Given the description of an element on the screen output the (x, y) to click on. 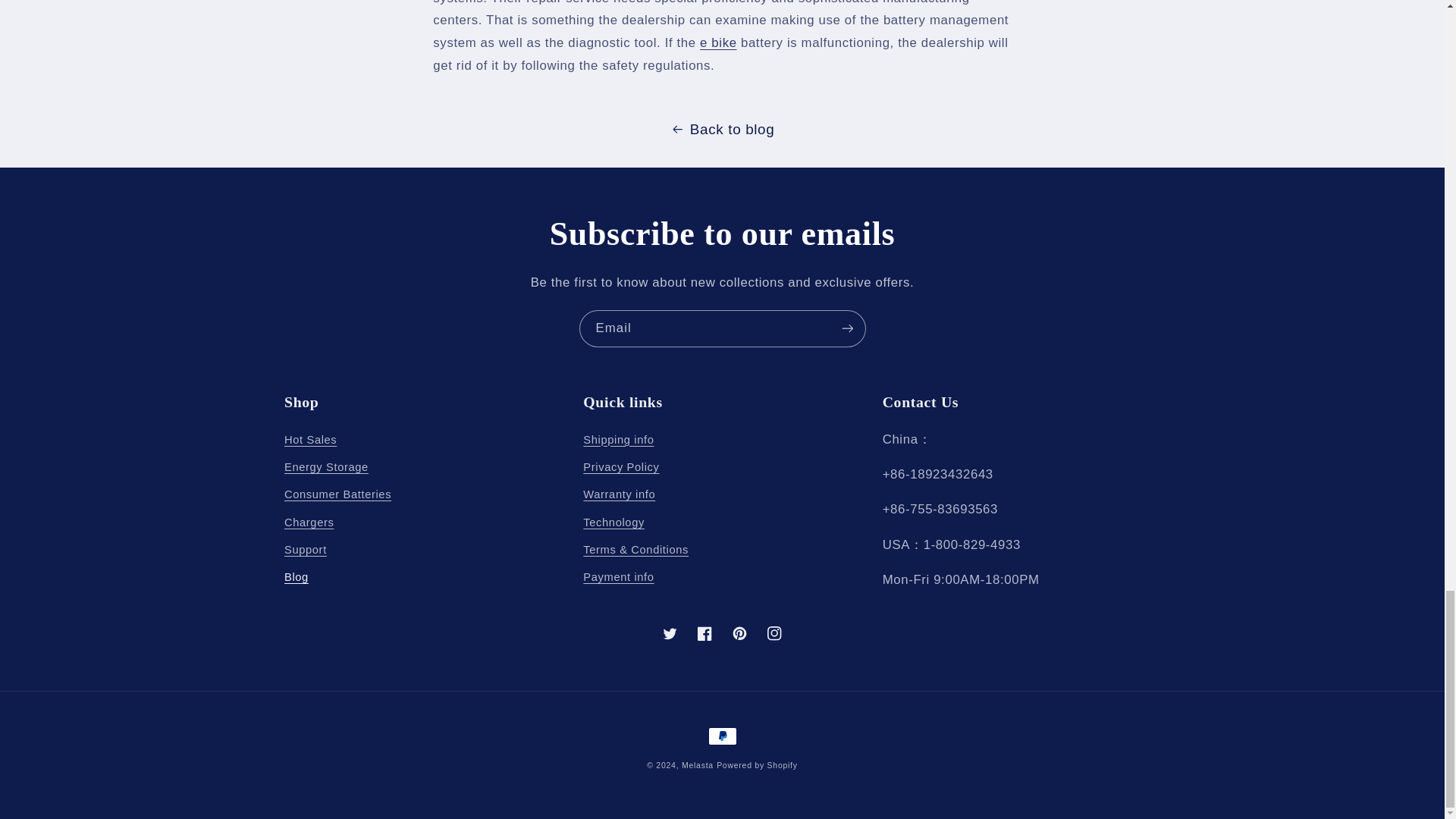
e bike battery  (718, 42)
